Given the description of an element on the screen output the (x, y) to click on. 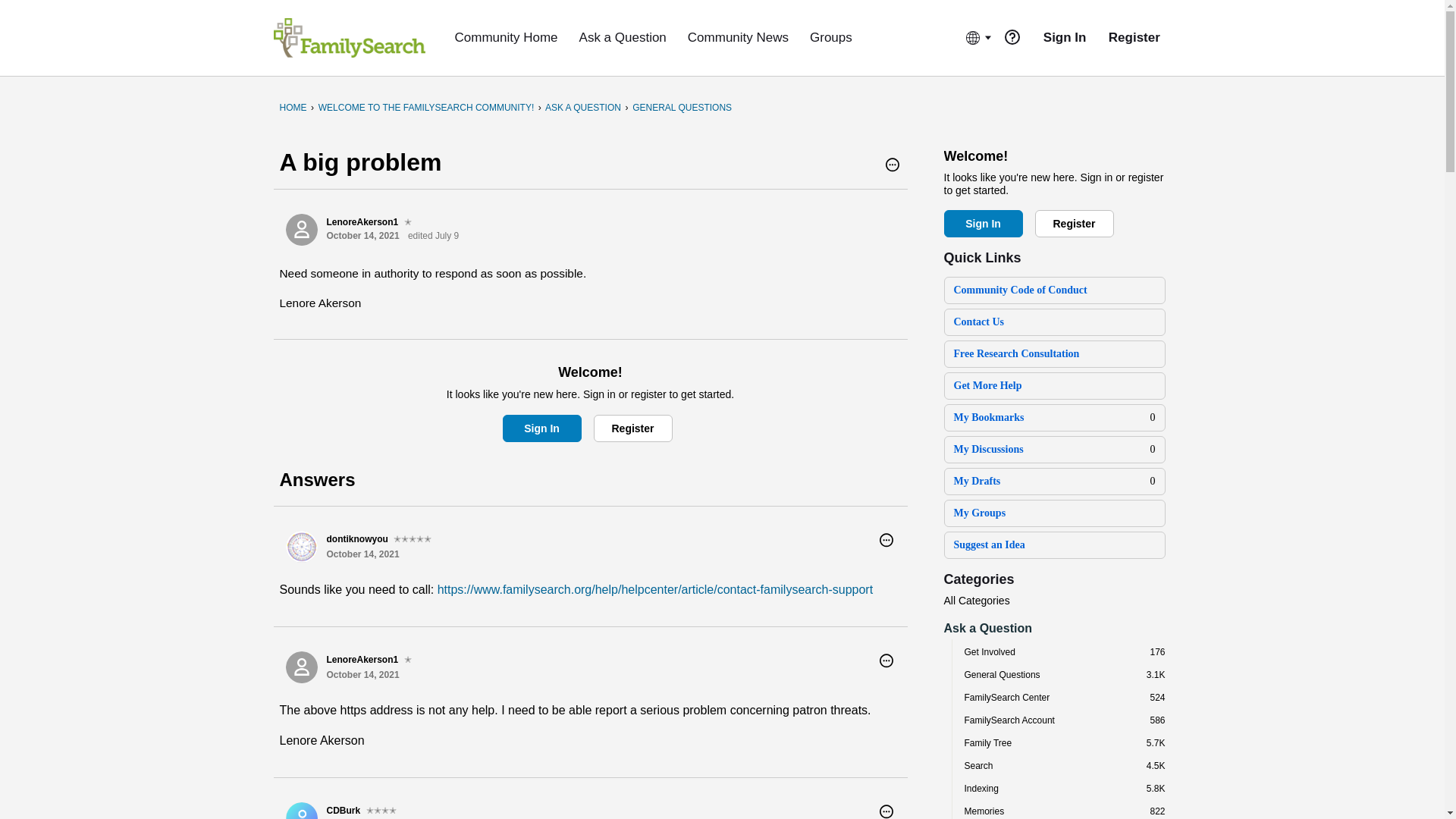
LenoreAkerson1 (301, 229)
notice-question (1012, 36)
dontiknowyou (301, 546)
October 14, 2021 3:16PM (362, 235)
Level 1 (408, 659)
Level 4 (381, 810)
Sign In (541, 428)
October 14, 2021 5:47PM (362, 553)
Edited July 9, 2024 6:43PM by LauraleeT1. (432, 235)
Register (631, 428)
LenoreAkerson1 (301, 667)
Level 1 (408, 222)
October 14, 2021 7:32PM (362, 674)
Level 5 (411, 539)
